Given the description of an element on the screen output the (x, y) to click on. 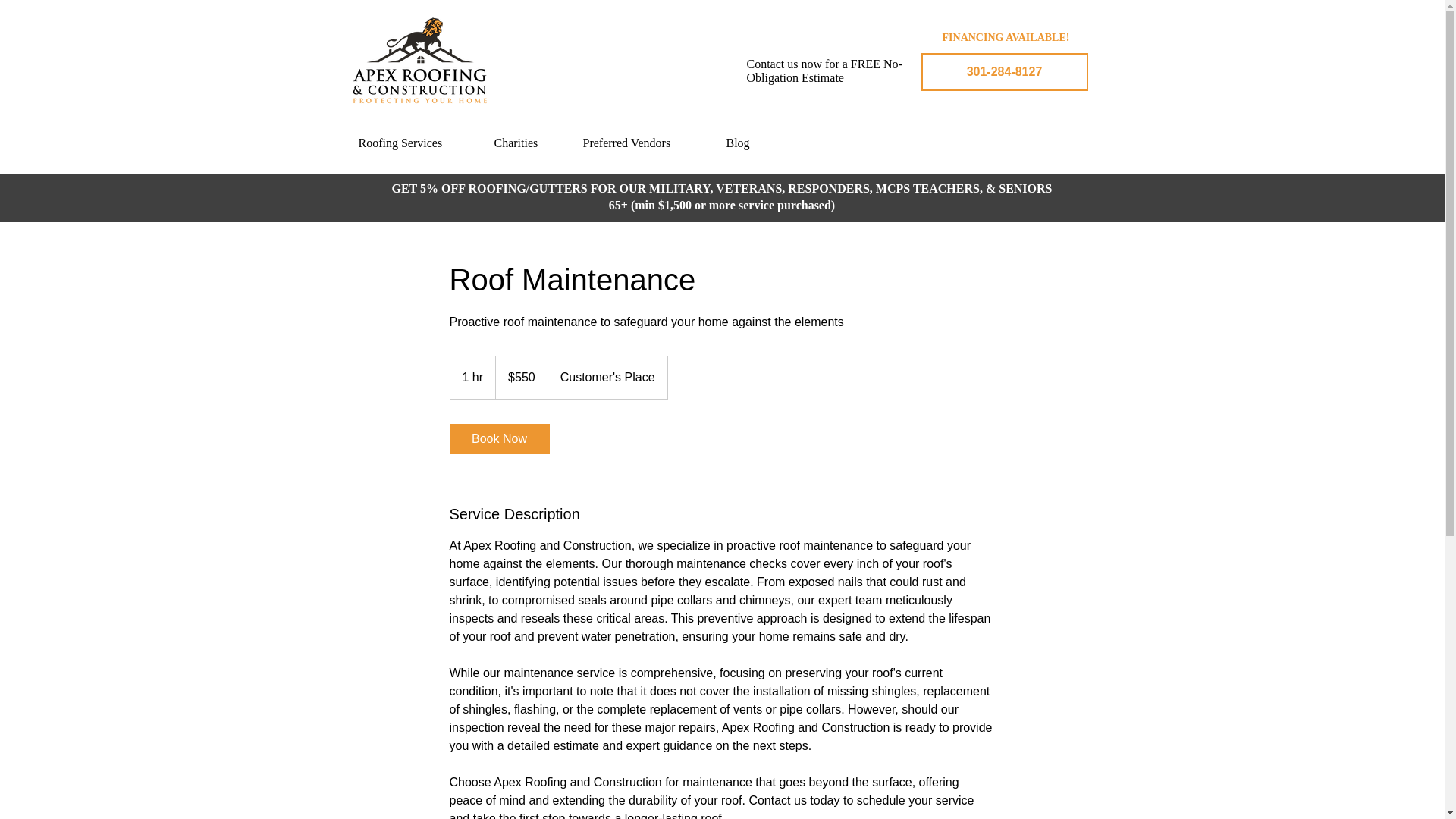
Preferred Vendors (646, 143)
Charities (530, 143)
Book Now (498, 439)
301-284-8127 (1003, 71)
Roofing Services (418, 143)
Blog (749, 143)
FINANCING AVAILABLE! (1006, 37)
